Given the description of an element on the screen output the (x, y) to click on. 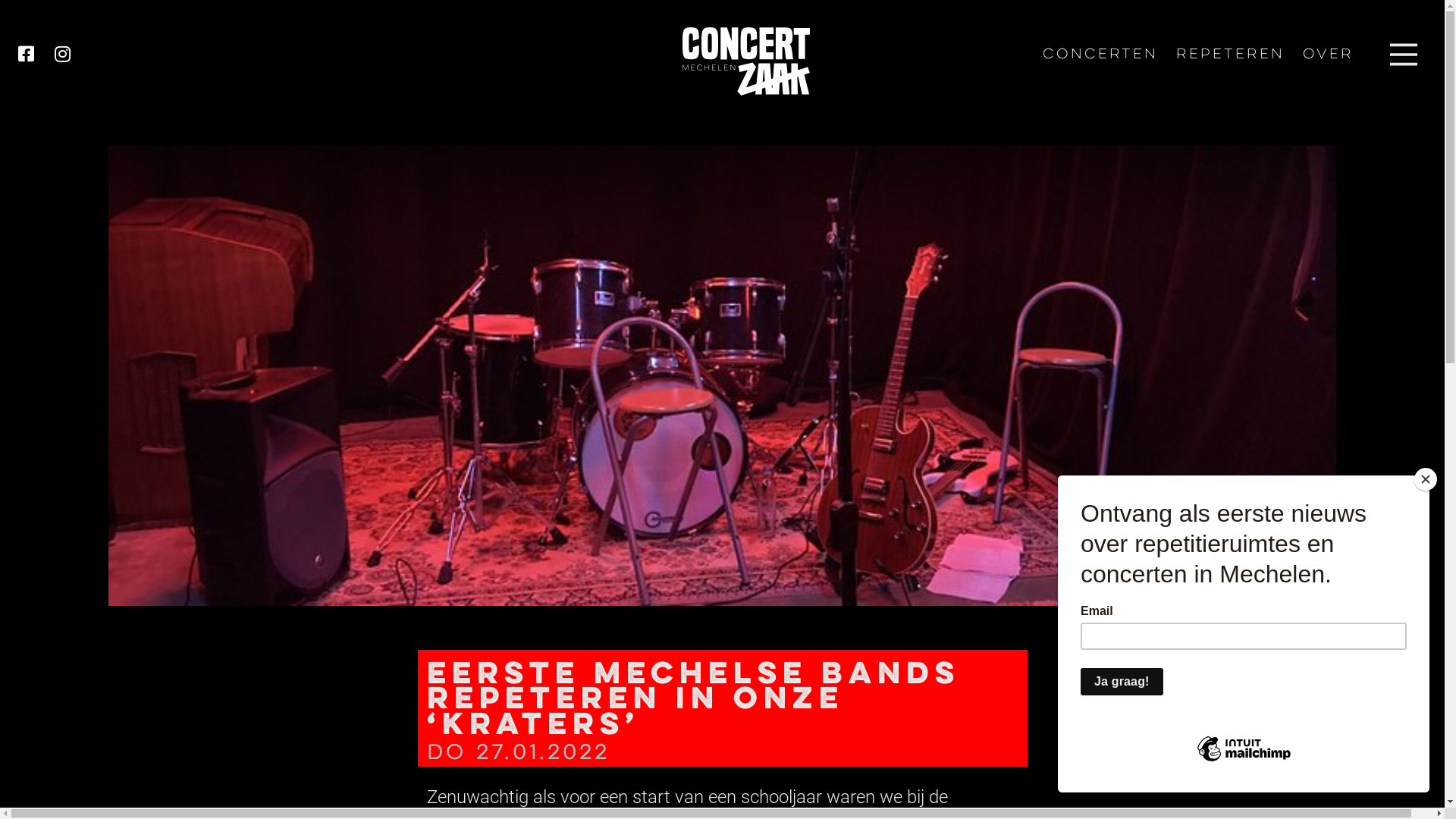
REPETEREN Element type: text (1230, 54)
CONCERTEN Element type: text (1099, 54)
OVER Element type: text (1327, 54)
